Given the description of an element on the screen output the (x, y) to click on. 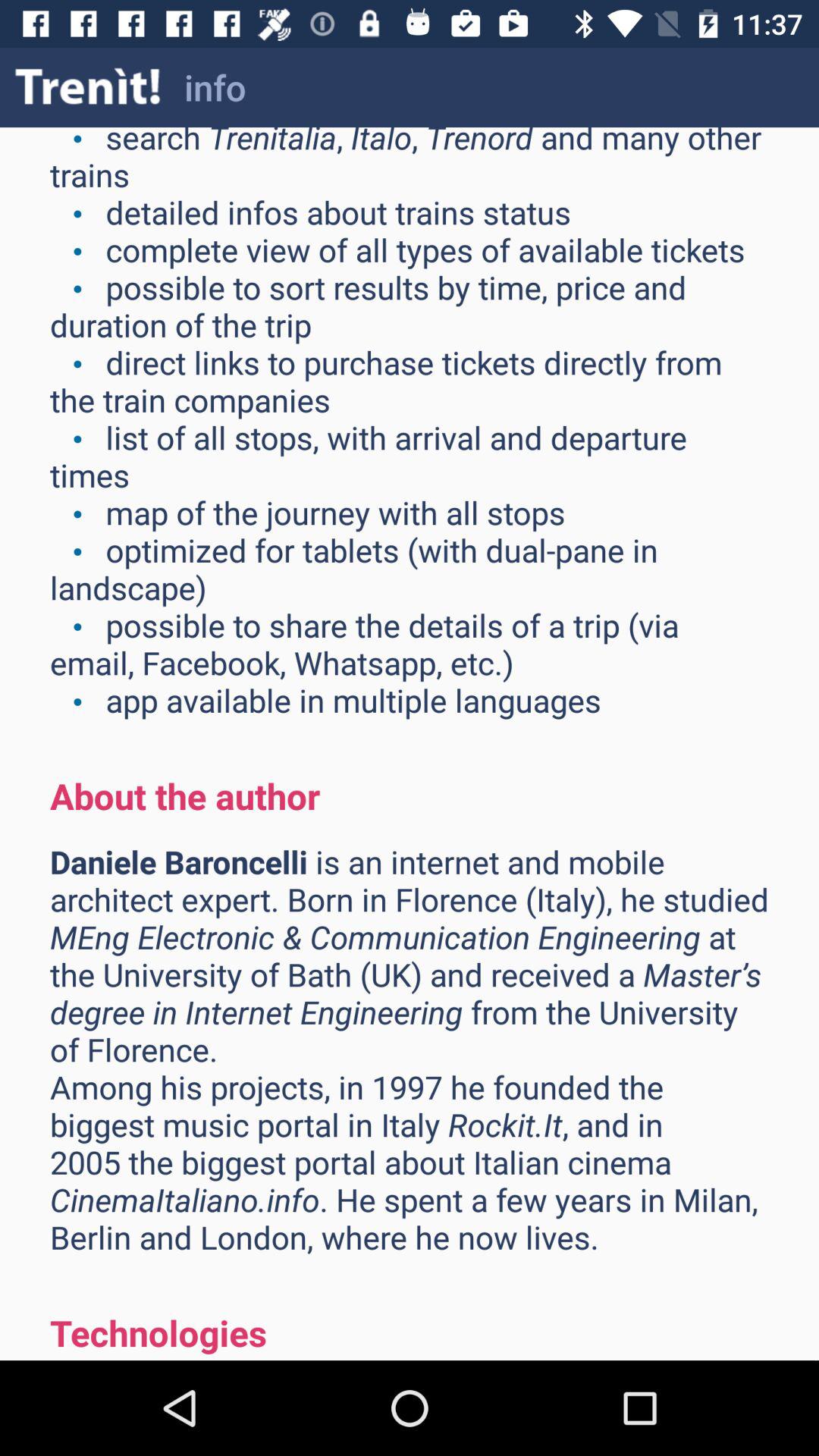
click icon to the left of info (88, 87)
